Given the description of an element on the screen output the (x, y) to click on. 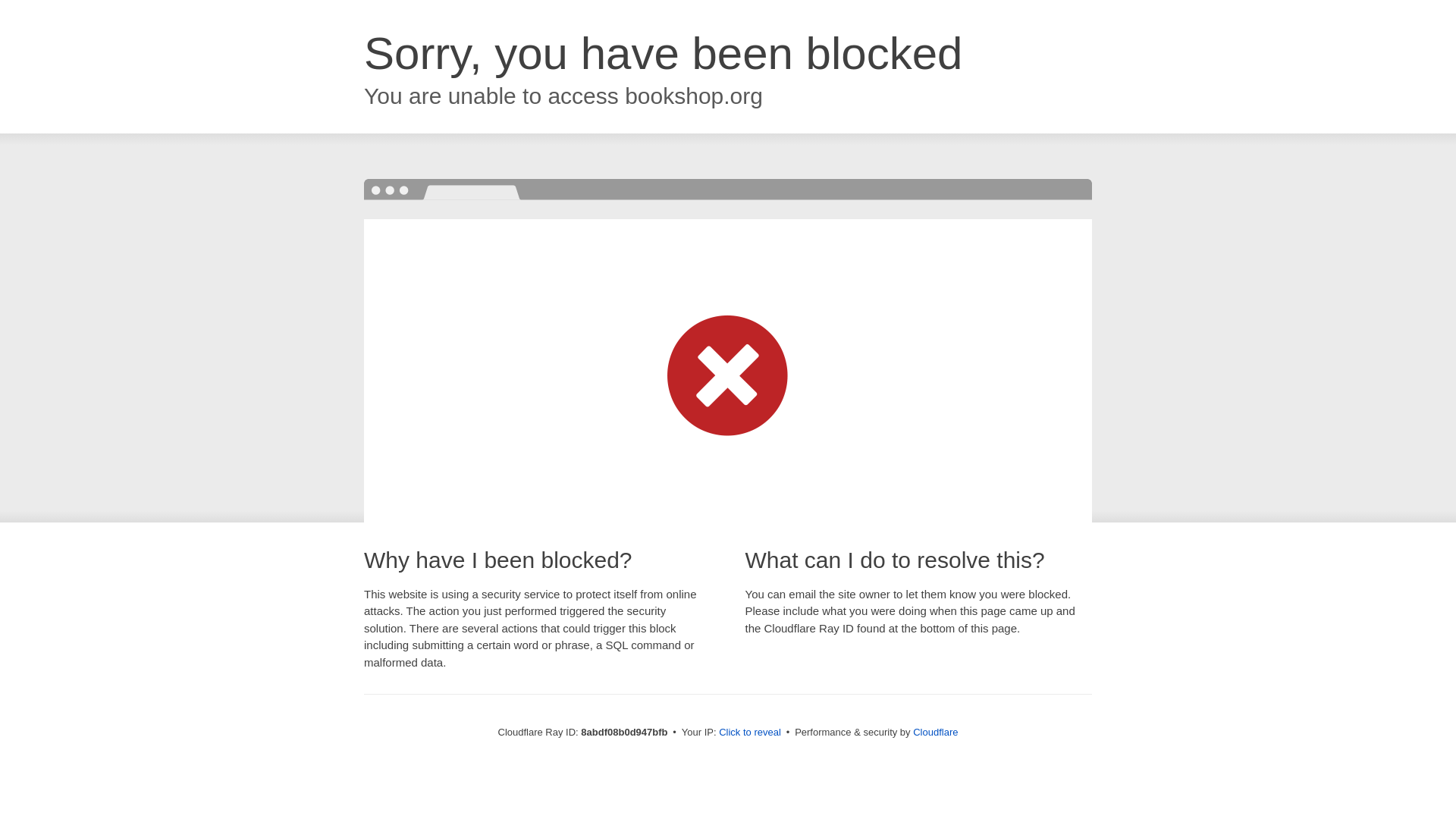
Cloudflare (934, 731)
Click to reveal (748, 732)
